Given the description of an element on the screen output the (x, y) to click on. 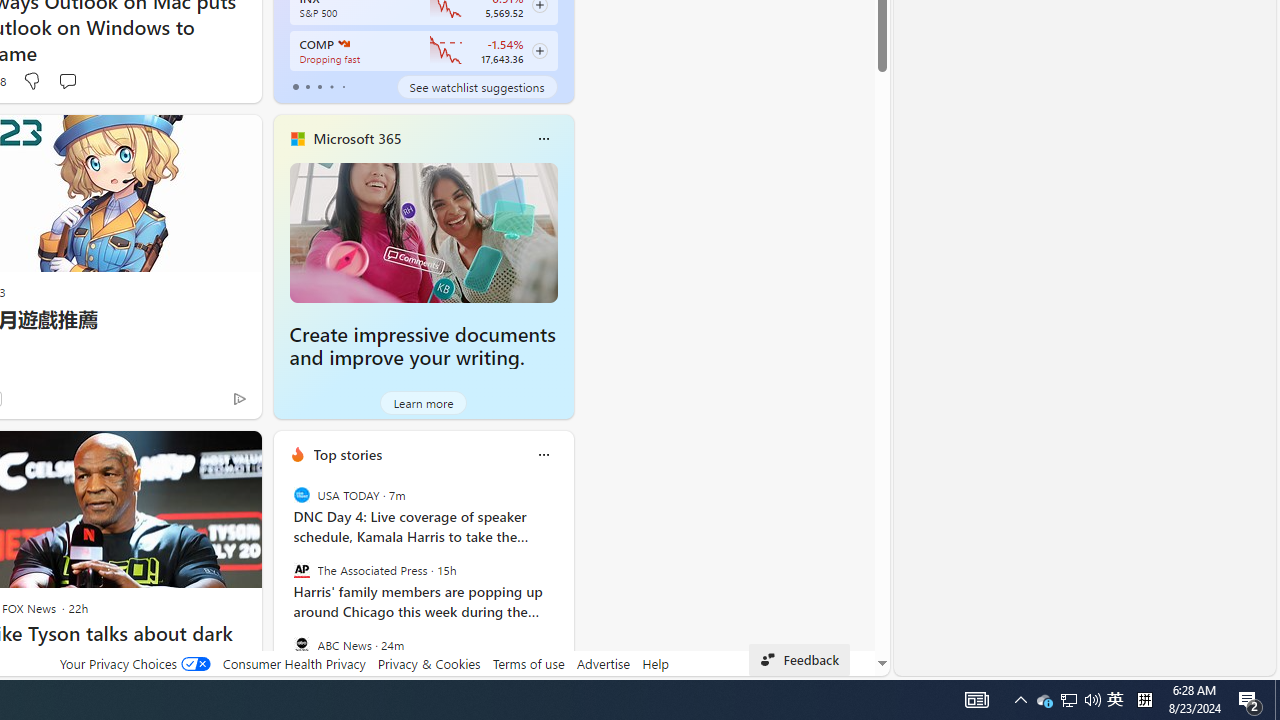
More options (543, 454)
tab-1 (306, 86)
USA TODAY (301, 494)
tab-3 (331, 86)
Hide this story (201, 454)
Help (655, 663)
Class: follow-button  m (539, 51)
Create impressive documents and improve your writing. (423, 232)
Consumer Health Privacy (293, 663)
Start the conversation (67, 80)
ABC News (301, 644)
Feedback (798, 659)
